Given the description of an element on the screen output the (x, y) to click on. 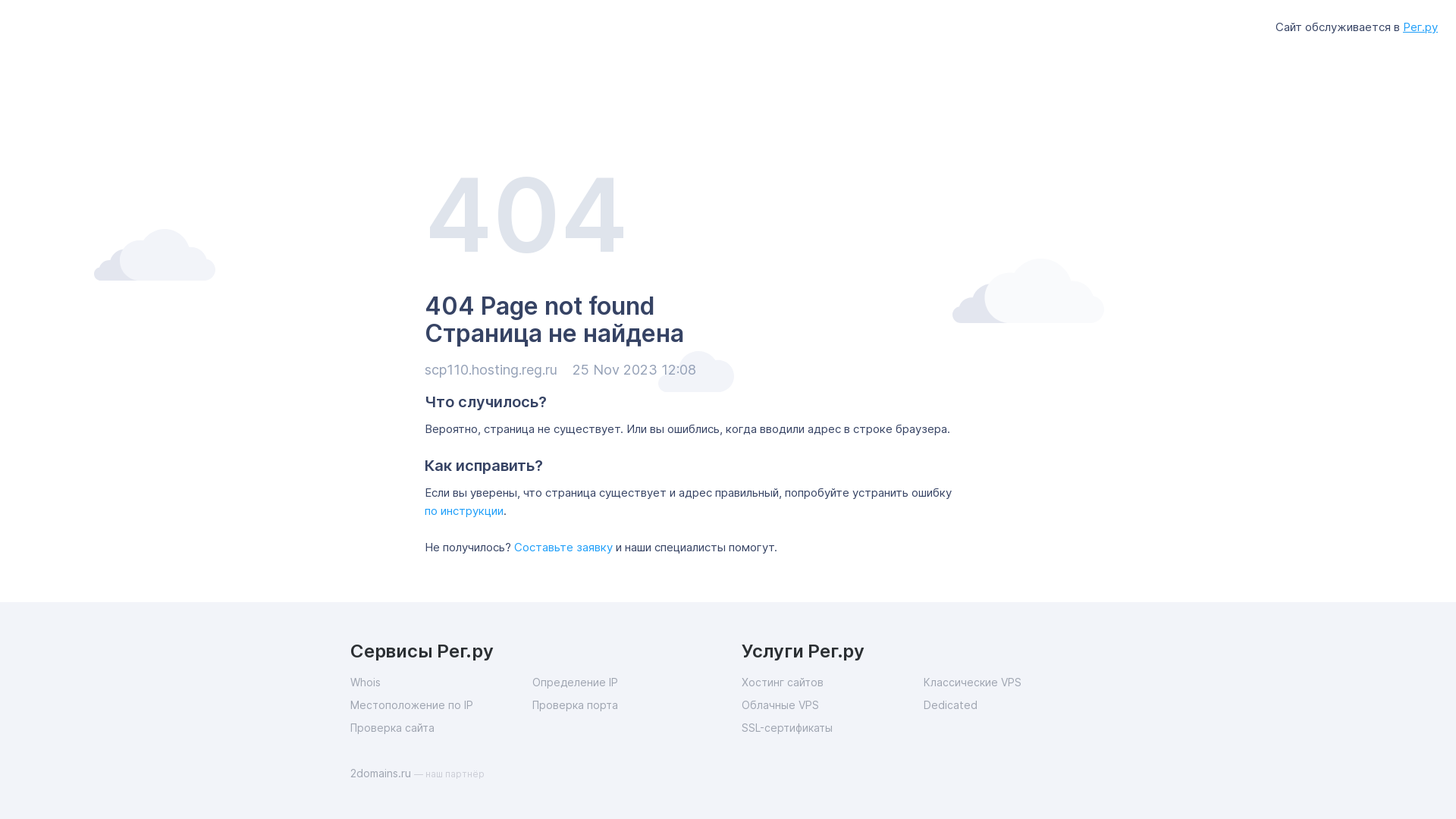
Dedicated Element type: text (1014, 705)
Whois Element type: text (441, 682)
2domains.ru Element type: text (382, 772)
